Given the description of an element on the screen output the (x, y) to click on. 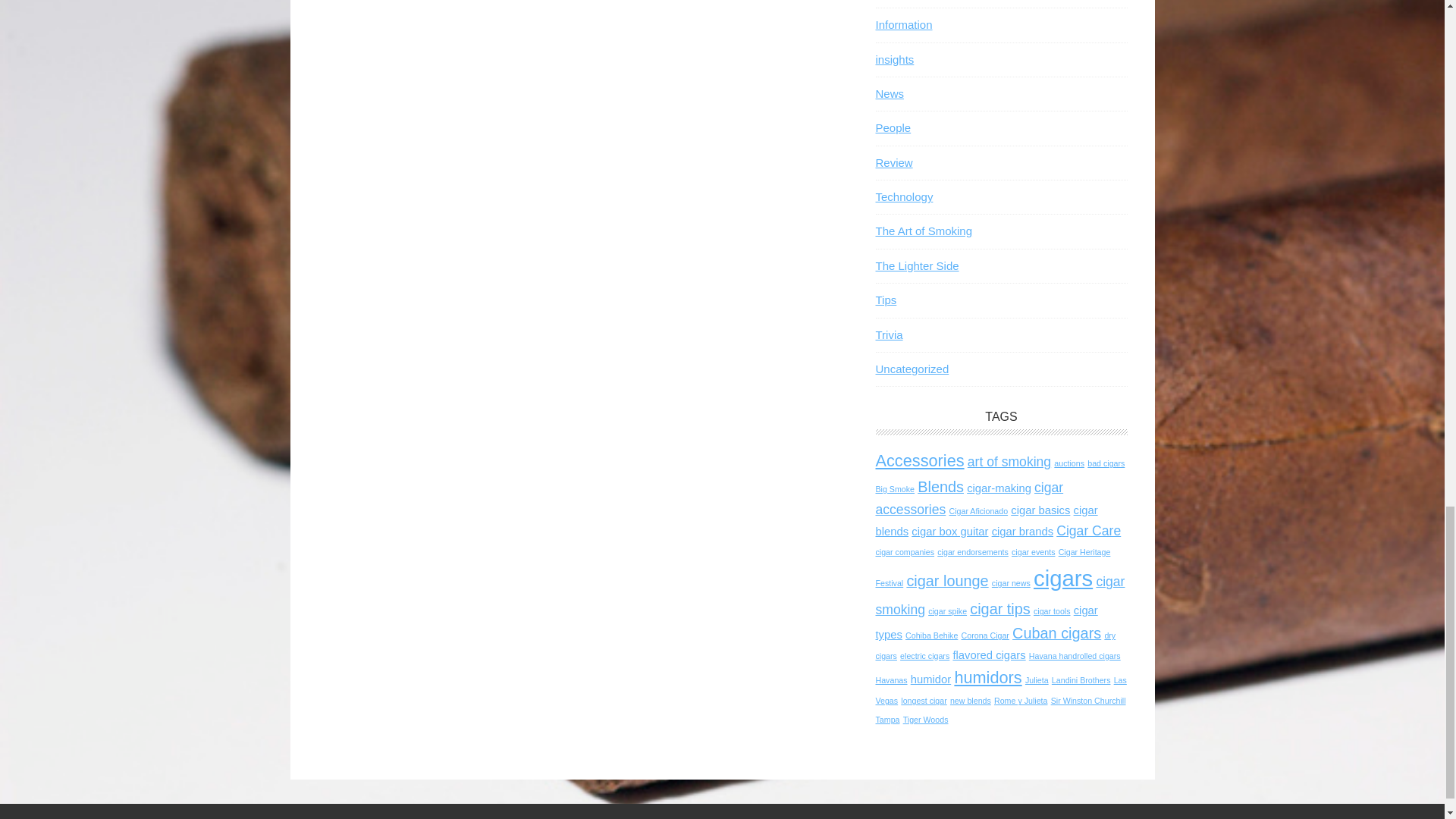
art of smoking (1009, 461)
News (889, 92)
auctions (1069, 462)
People (893, 127)
Trivia (888, 334)
Information (903, 24)
The Lighter Side (916, 265)
The Art of Smoking (923, 230)
Review (893, 162)
Tips (885, 299)
Technology (904, 196)
Uncategorized (912, 368)
Accessories (919, 460)
insights (894, 58)
